Given the description of an element on the screen output the (x, y) to click on. 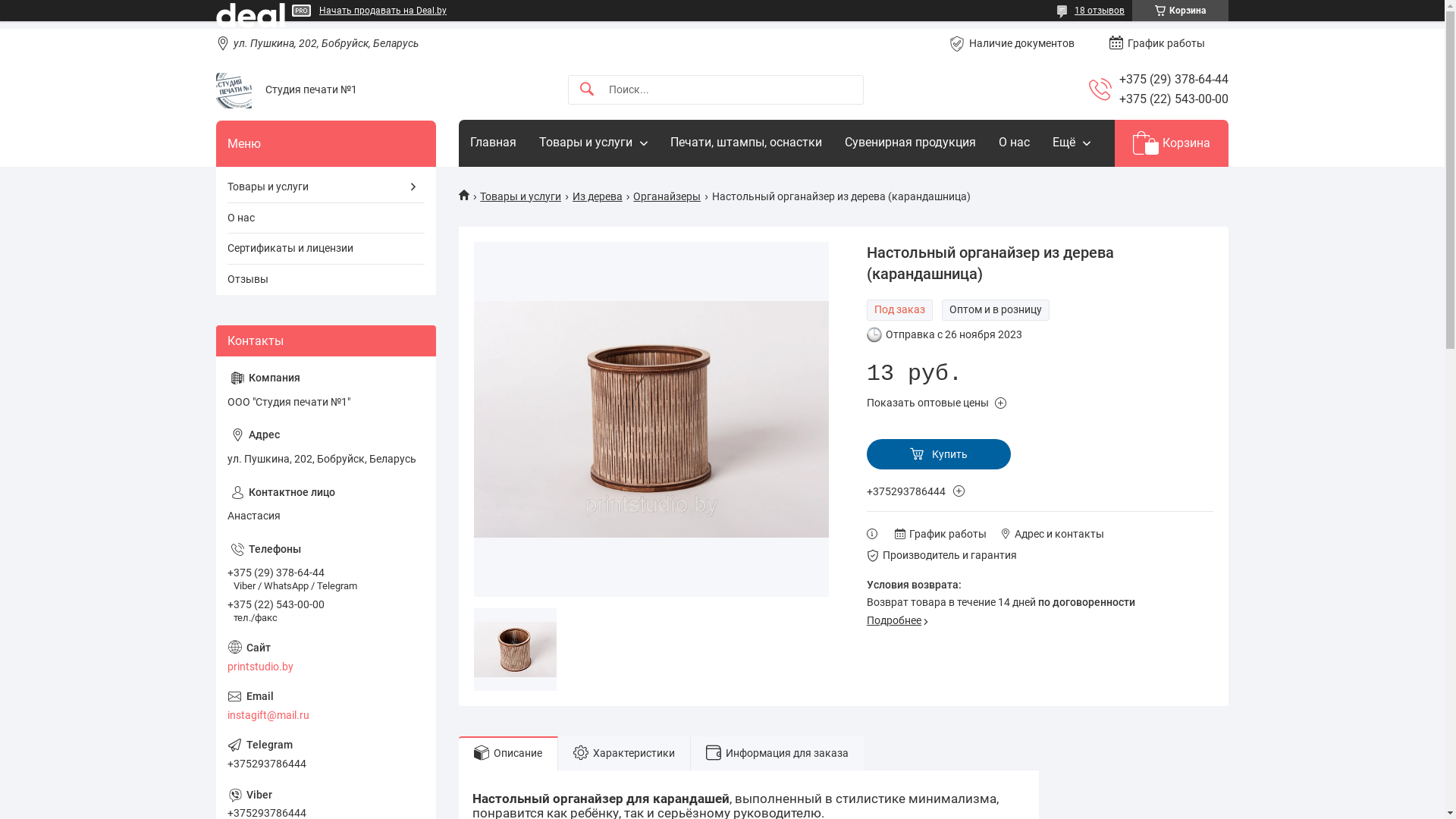
printstudio.by Element type: text (325, 656)
instagift@mail.ru Element type: text (325, 705)
